Given the description of an element on the screen output the (x, y) to click on. 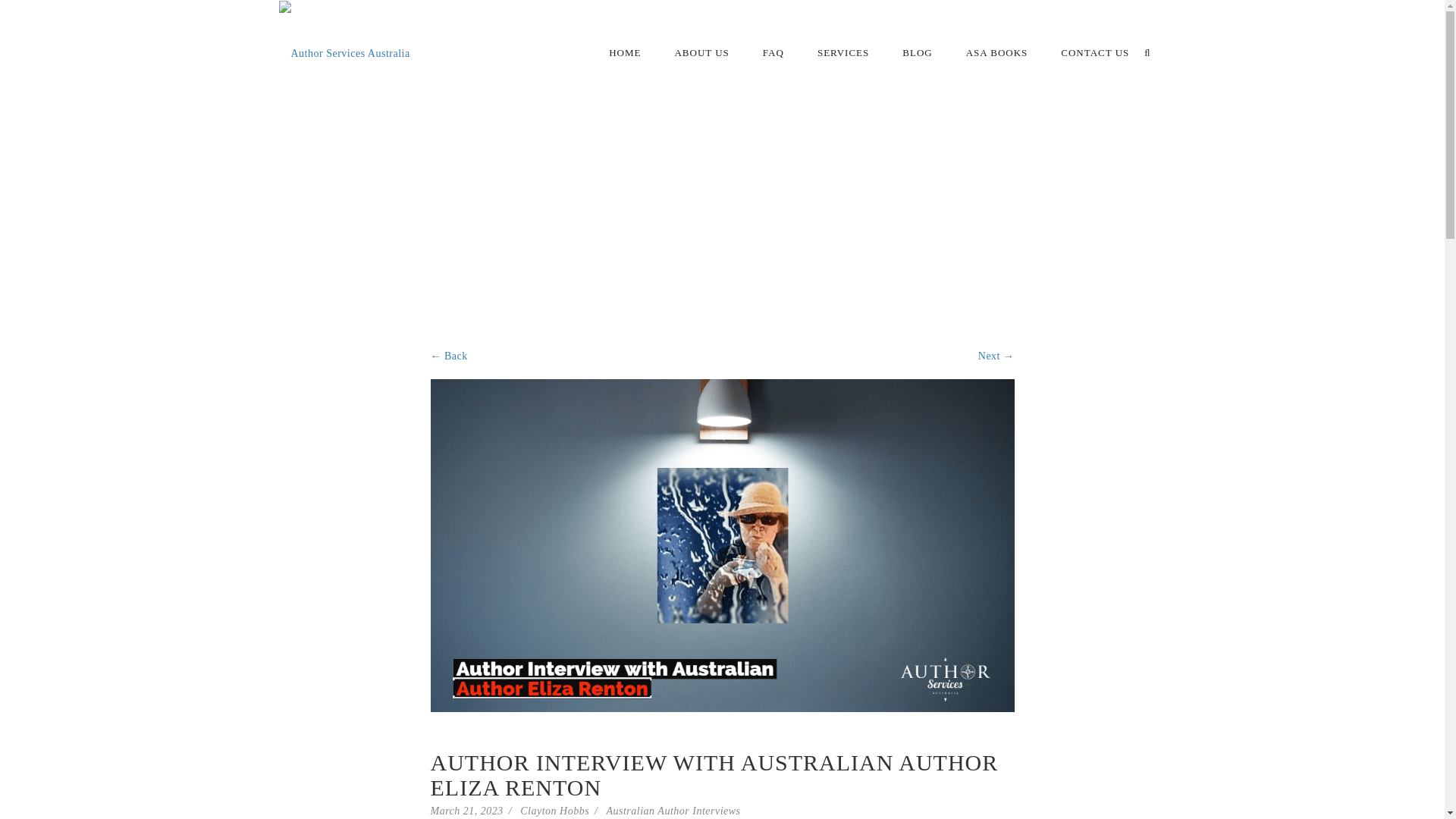
Posts by Clayton Hobbs (554, 810)
March 21, 2023 (466, 810)
SERVICES (842, 52)
FAQ (773, 52)
CONTACT US (1095, 52)
Australian Author Interviews (672, 810)
ASA BOOKS (996, 52)
HOME (624, 52)
Clayton Hobbs (554, 810)
Search (1025, 18)
